Given the description of an element on the screen output the (x, y) to click on. 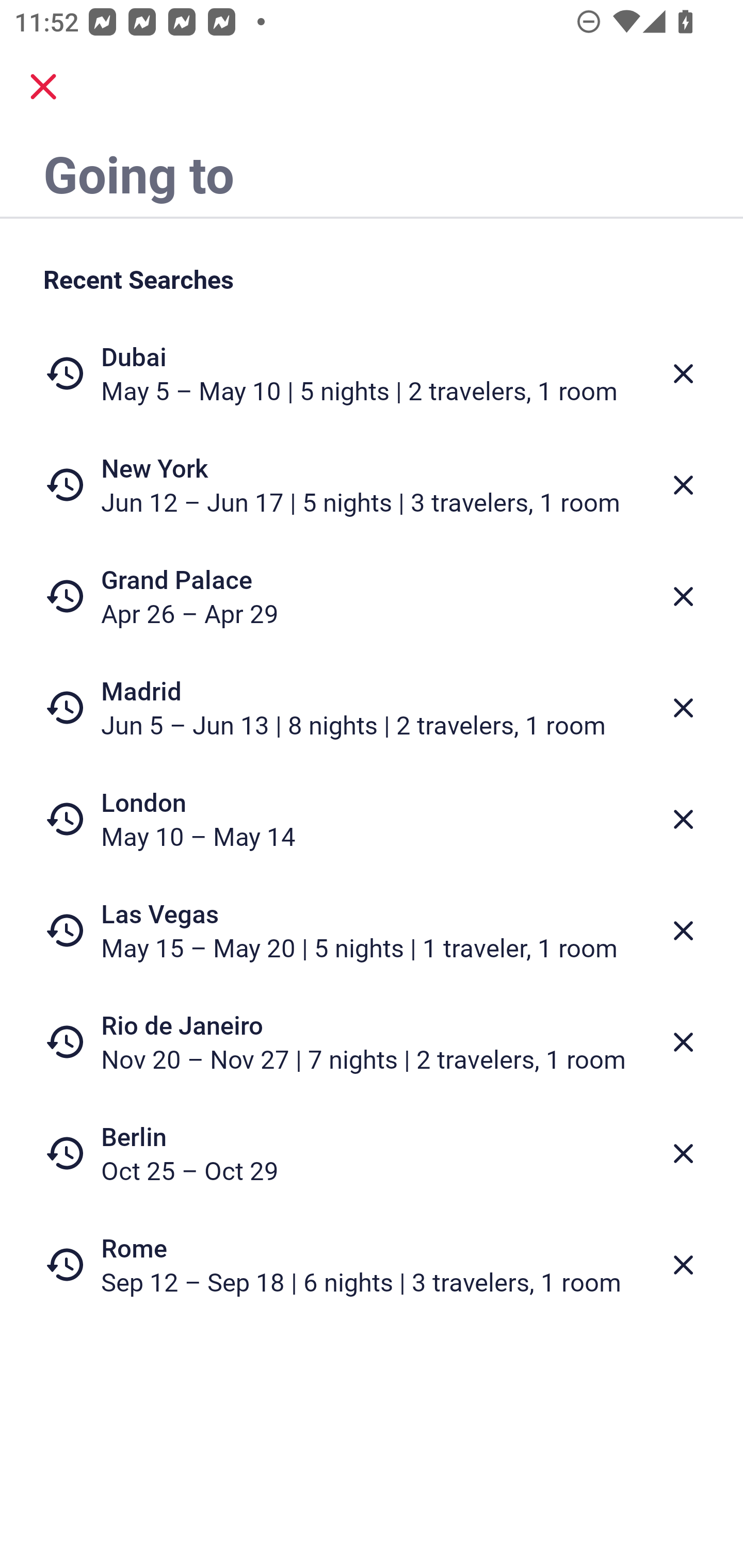
close. (43, 86)
Delete from recent searches (683, 373)
Delete from recent searches (683, 485)
Grand Palace Apr 26 – Apr 29 (371, 596)
Delete from recent searches (683, 596)
Delete from recent searches (683, 707)
London May 10 – May 14 (371, 818)
Delete from recent searches (683, 819)
Delete from recent searches (683, 930)
Delete from recent searches (683, 1041)
Berlin Oct 25 – Oct 29 (371, 1152)
Delete from recent searches (683, 1153)
Delete from recent searches (683, 1265)
